Given the description of an element on the screen output the (x, y) to click on. 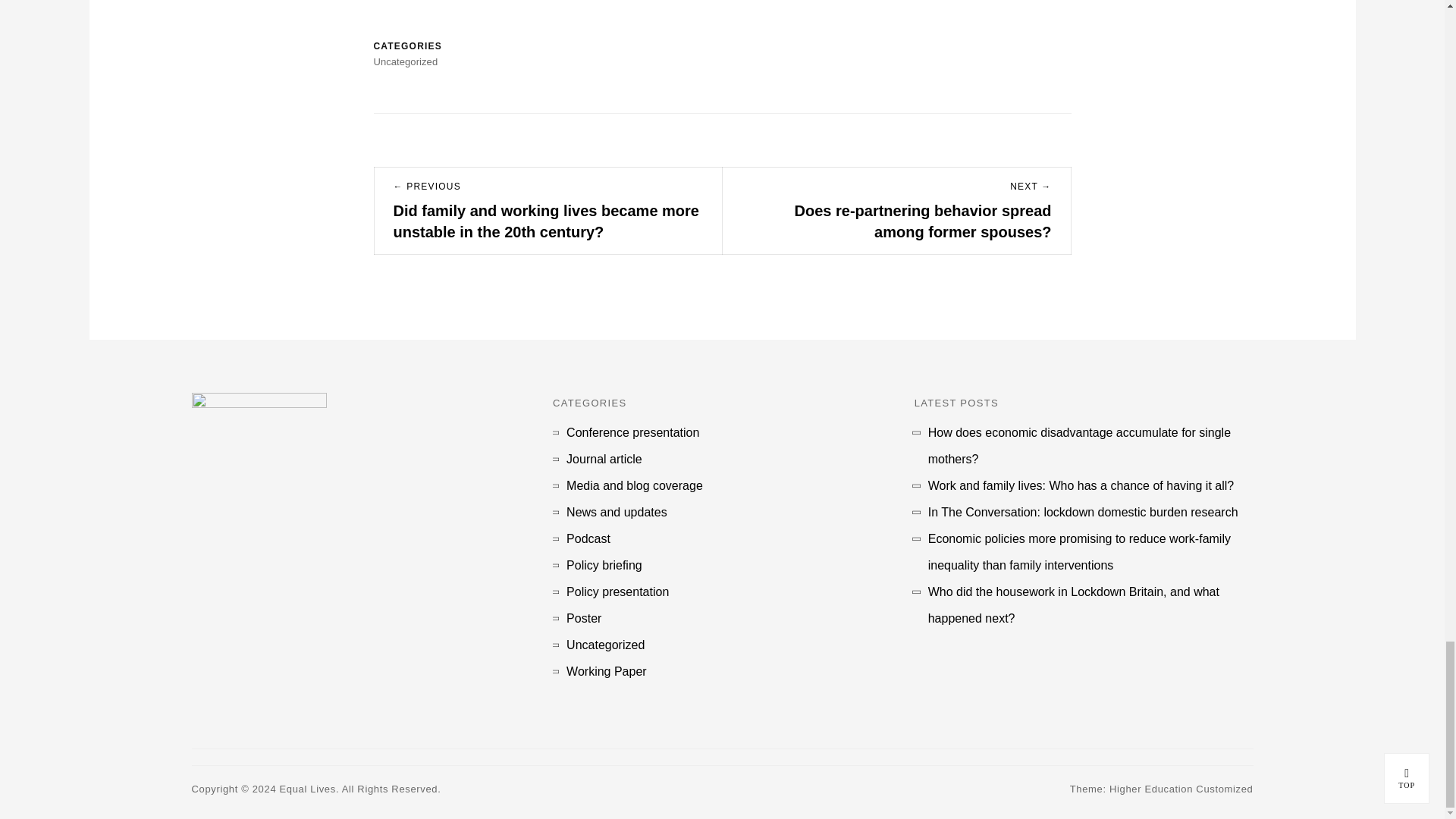
Media and blog coverage (634, 485)
In The Conversation: lockdown domestic burden research (1083, 512)
Podcast (588, 538)
Working Paper (606, 671)
Policy briefing (604, 565)
Higher Education Customized (1181, 788)
Policy presentation (617, 591)
Journal article (604, 458)
Work and family lives: Who has a chance of having it all? (1080, 485)
Equal Lives (307, 788)
Conference presentation (632, 432)
Uncategorized (605, 644)
Poster (583, 618)
